Given the description of an element on the screen output the (x, y) to click on. 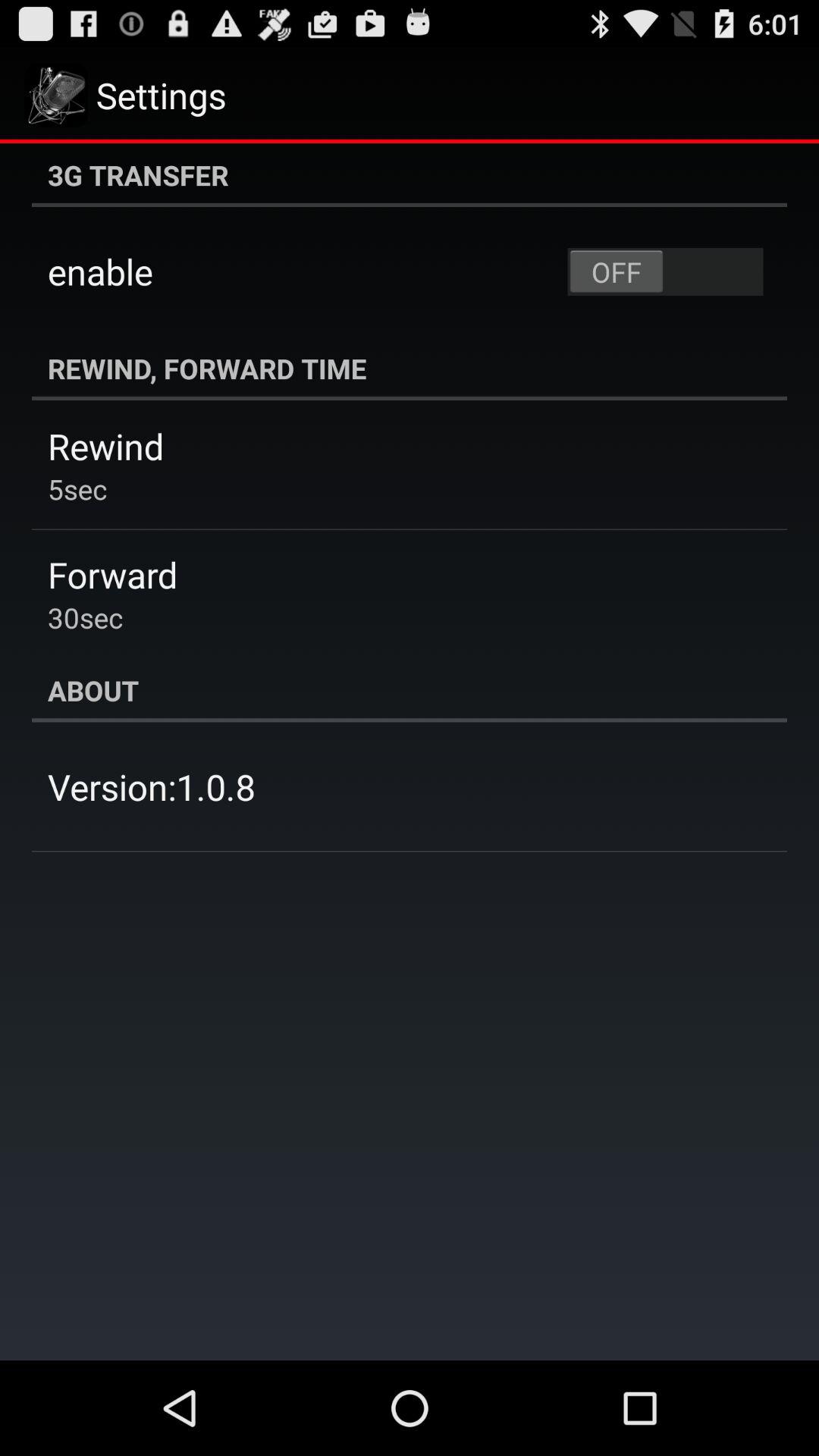
tap icon at the top right corner (665, 271)
